Given the description of an element on the screen output the (x, y) to click on. 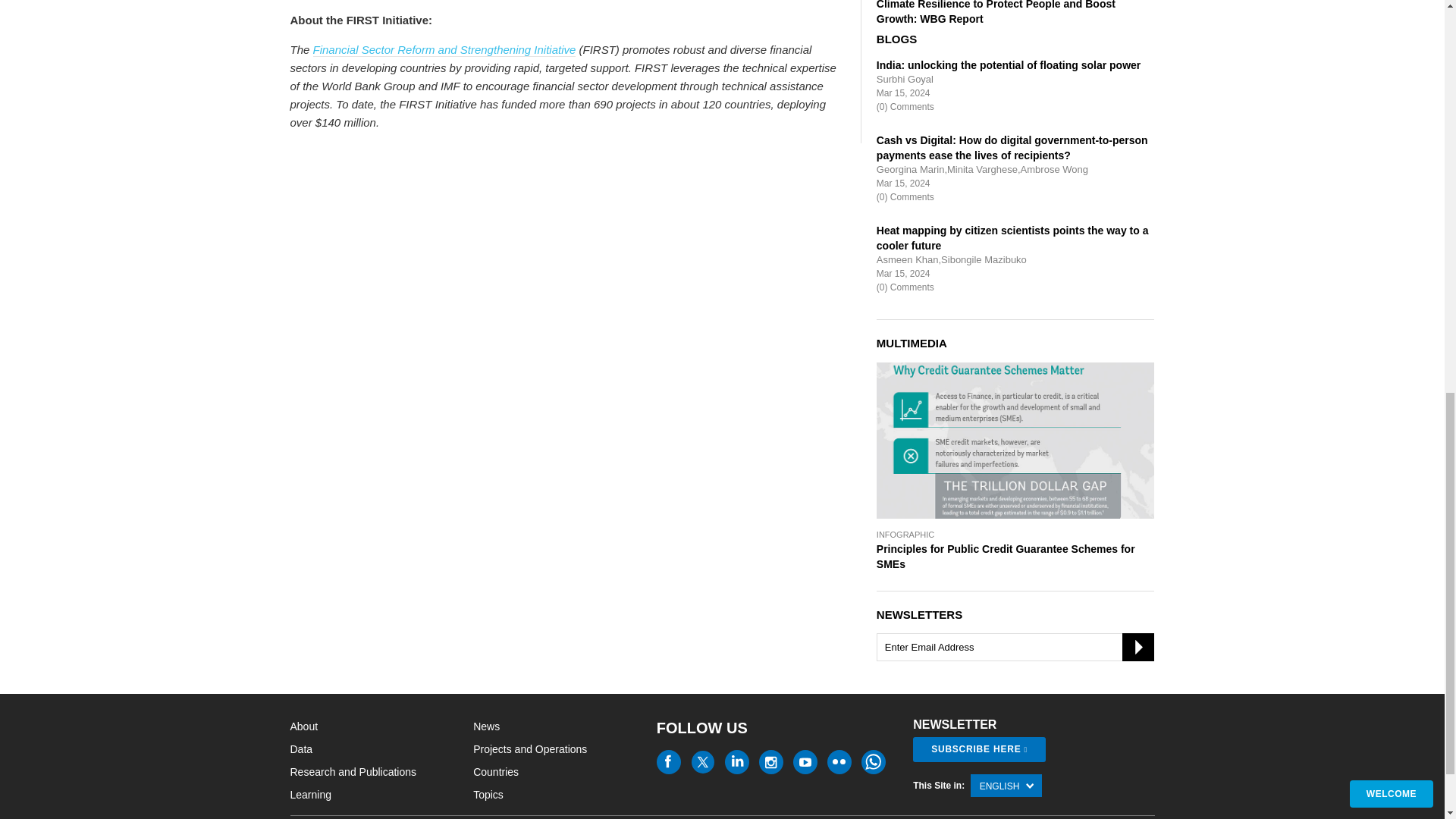
Enter Email Address (1015, 646)
Enter Email Address (1015, 646)
